Given the description of an element on the screen output the (x, y) to click on. 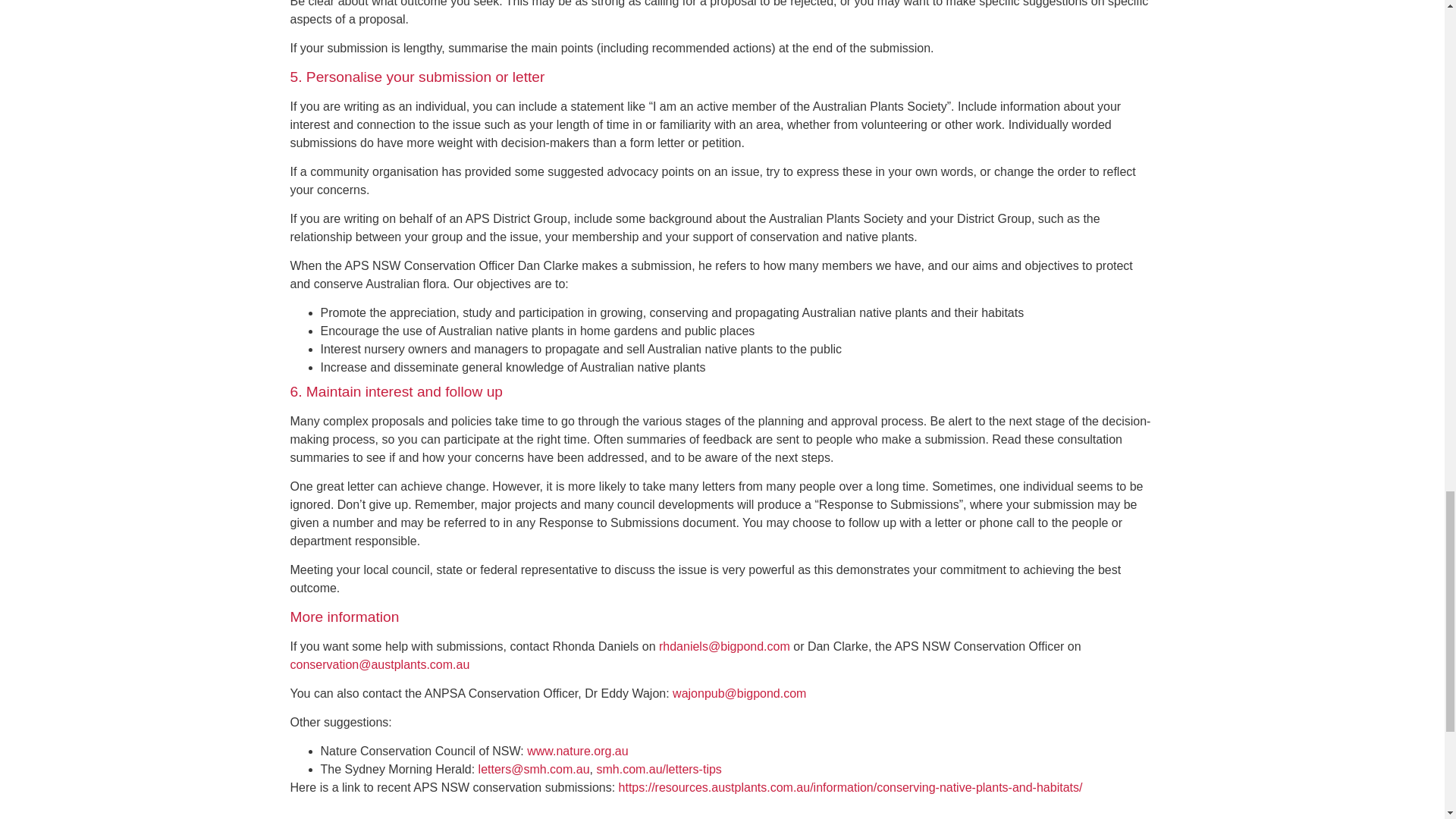
www.nature.org.au (577, 750)
